Given the description of an element on the screen output the (x, y) to click on. 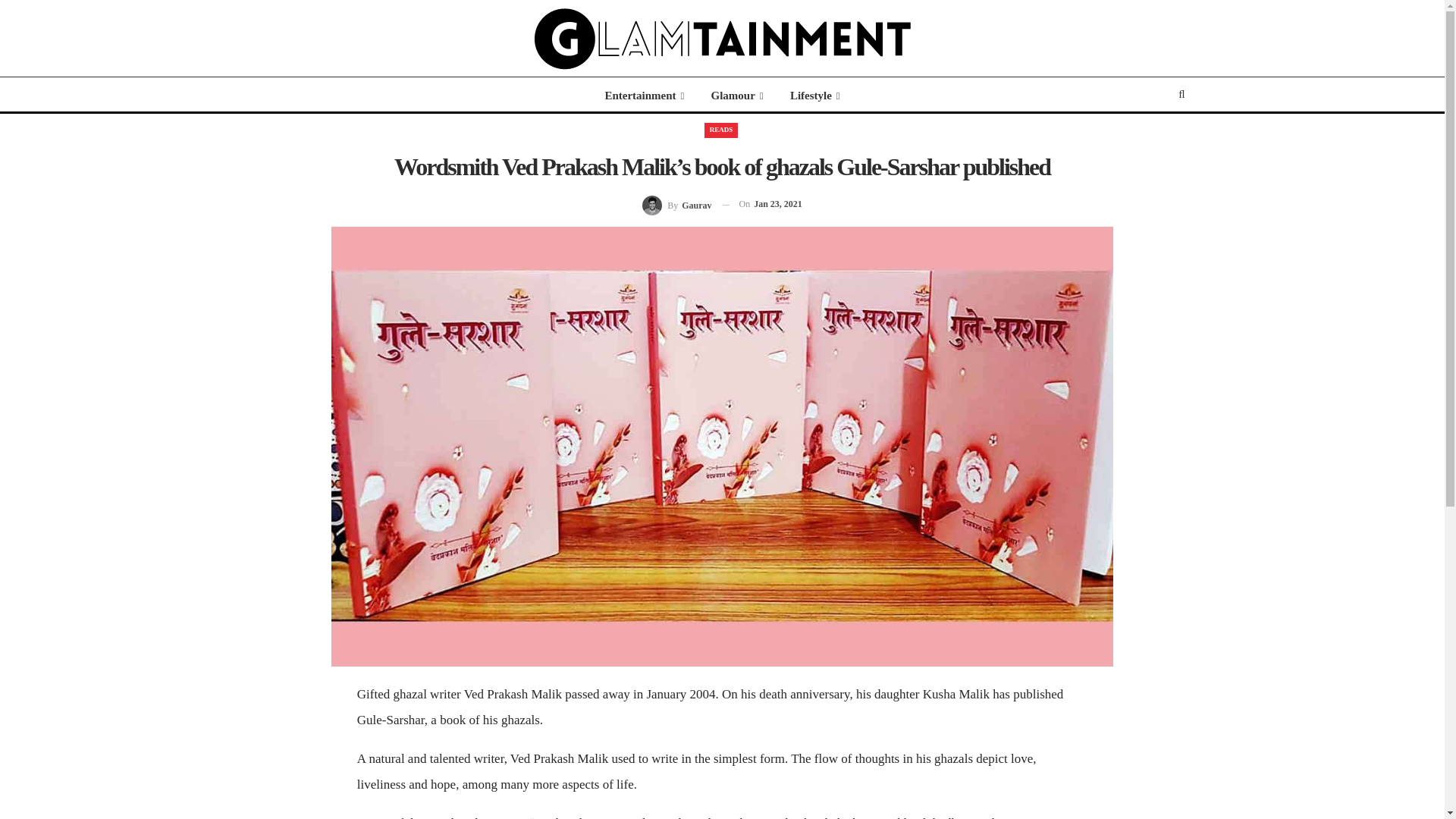
Glamour (737, 94)
READS (721, 129)
Entertainment (644, 94)
Browse Author Articles (676, 204)
Lifestyle (814, 94)
By Gaurav (676, 204)
